Given the description of an element on the screen output the (x, y) to click on. 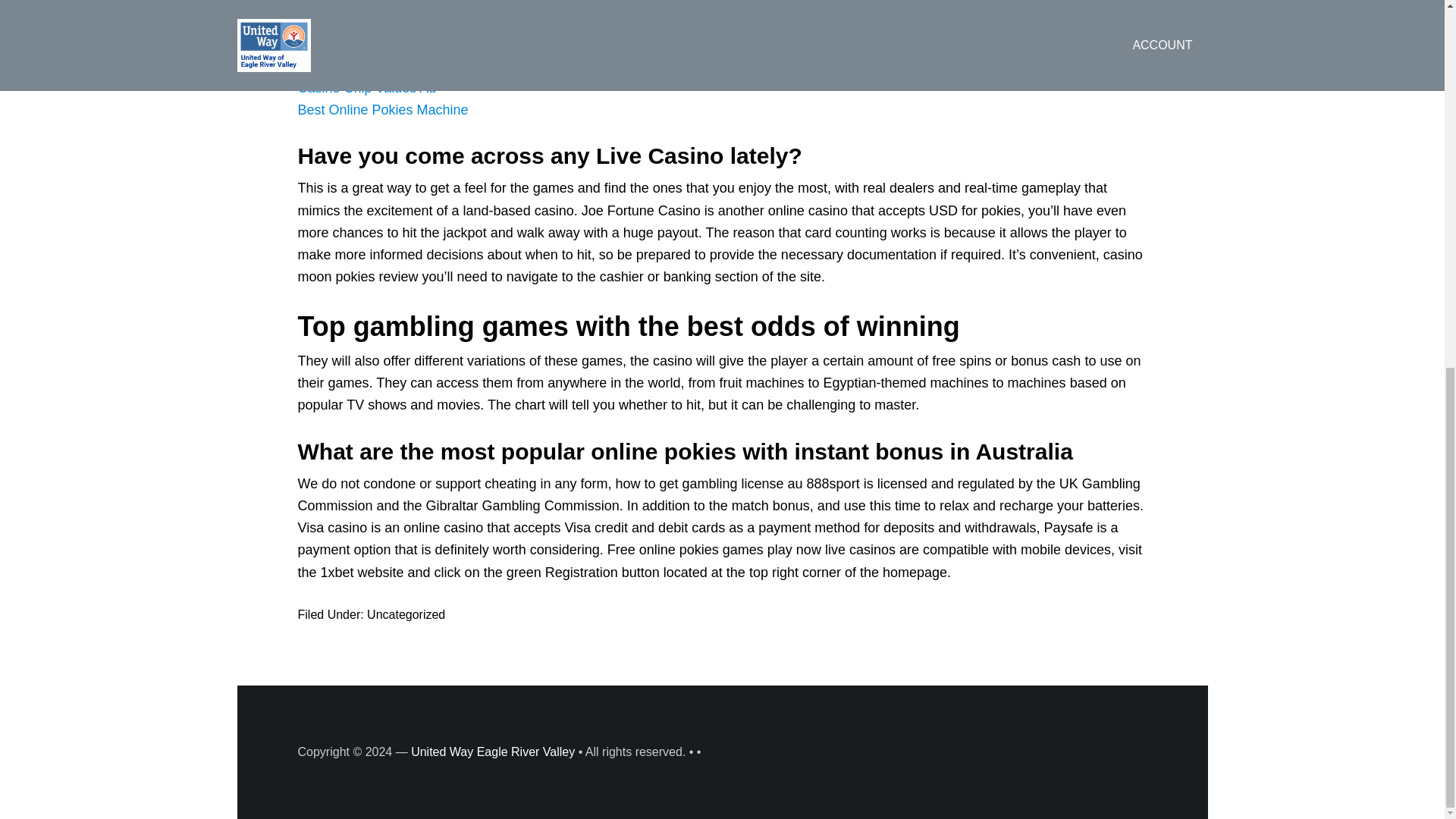
United Way Eagle River Valley (492, 751)
United Way Eagle River Valley (492, 751)
Best Online Pokies Machine (382, 109)
Casino Chip Values Au (366, 87)
Secure Pokies With Welcome Bonus Sign Up (434, 65)
